Given the description of an element on the screen output the (x, y) to click on. 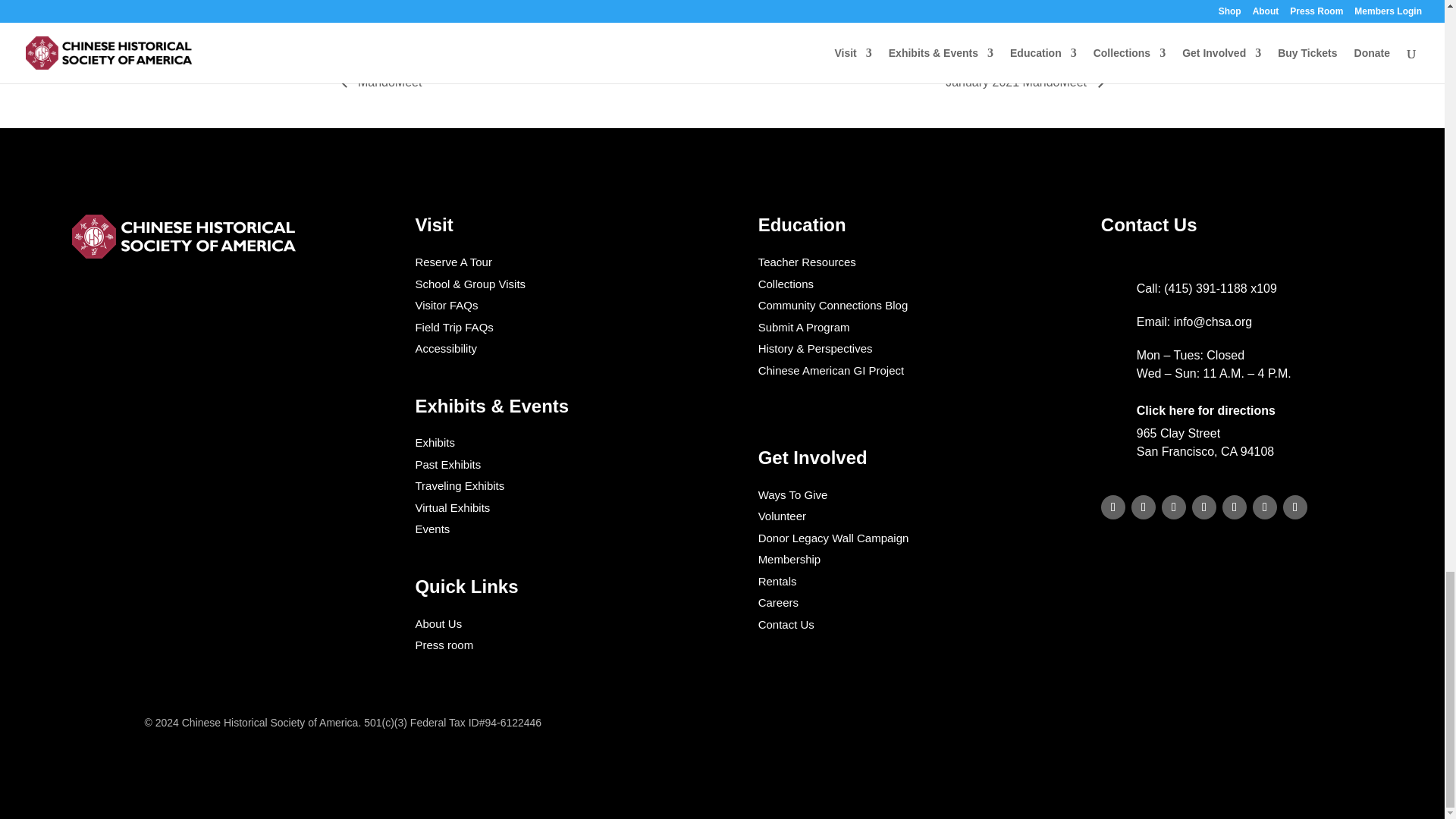
Follow on Instagram (1203, 507)
Follow on tumblr (1173, 507)
Follow on Facebook (1143, 507)
Follow on LinkedIn (1112, 507)
Follow on Flickr (1294, 507)
TORICAL--SOCIETY-OF-AMERICA (185, 236)
Follow on Youtube (1264, 507)
Follow on X (1234, 507)
